Given the description of an element on the screen output the (x, y) to click on. 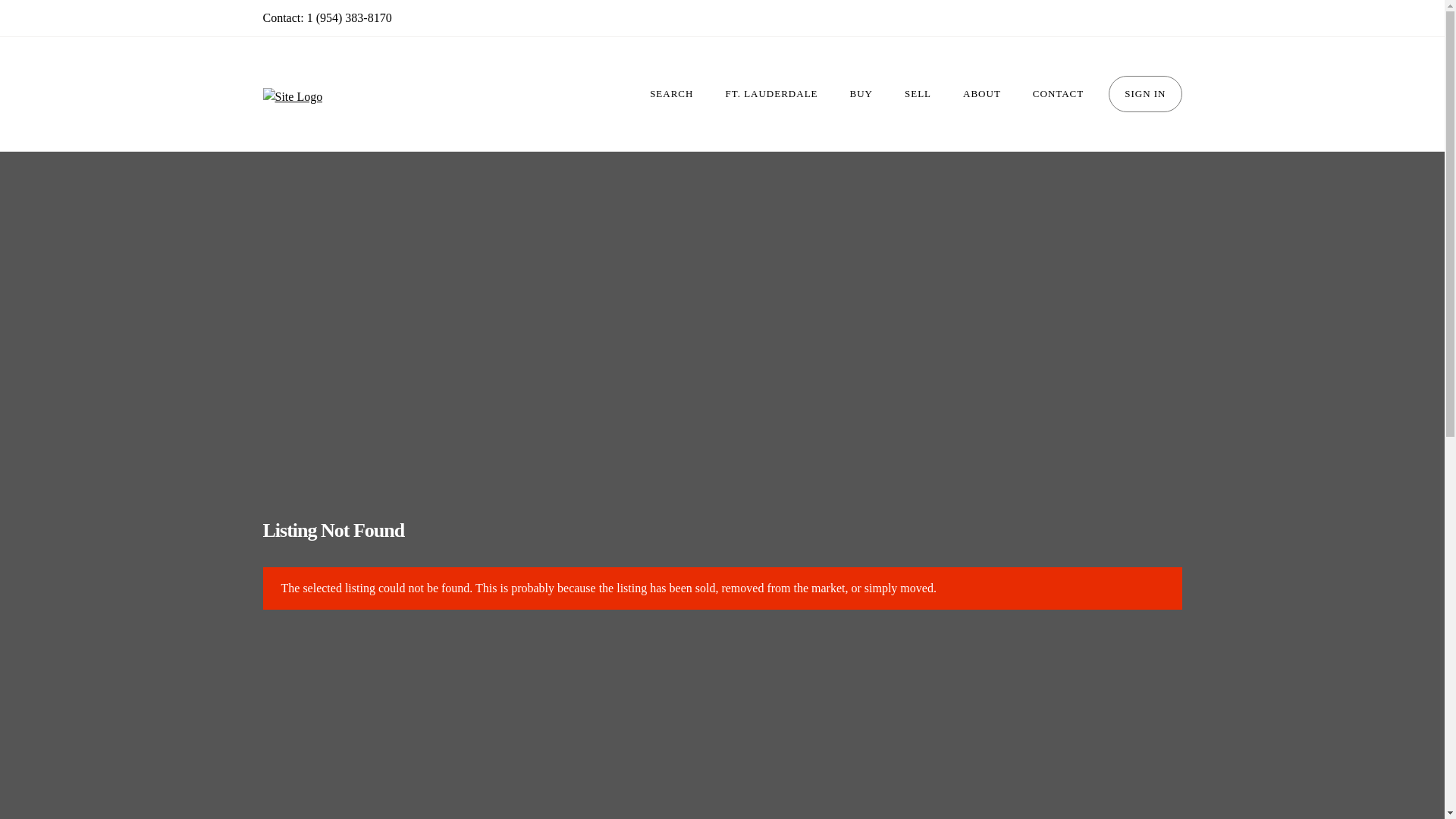
BUY (861, 94)
FT. LAUDERDALE (770, 94)
SEARCH (671, 94)
Site Logo (291, 96)
SIGN IN (1144, 94)
CONTACT (1057, 94)
SELL (917, 94)
ABOUT (981, 94)
